Given the description of an element on the screen output the (x, y) to click on. 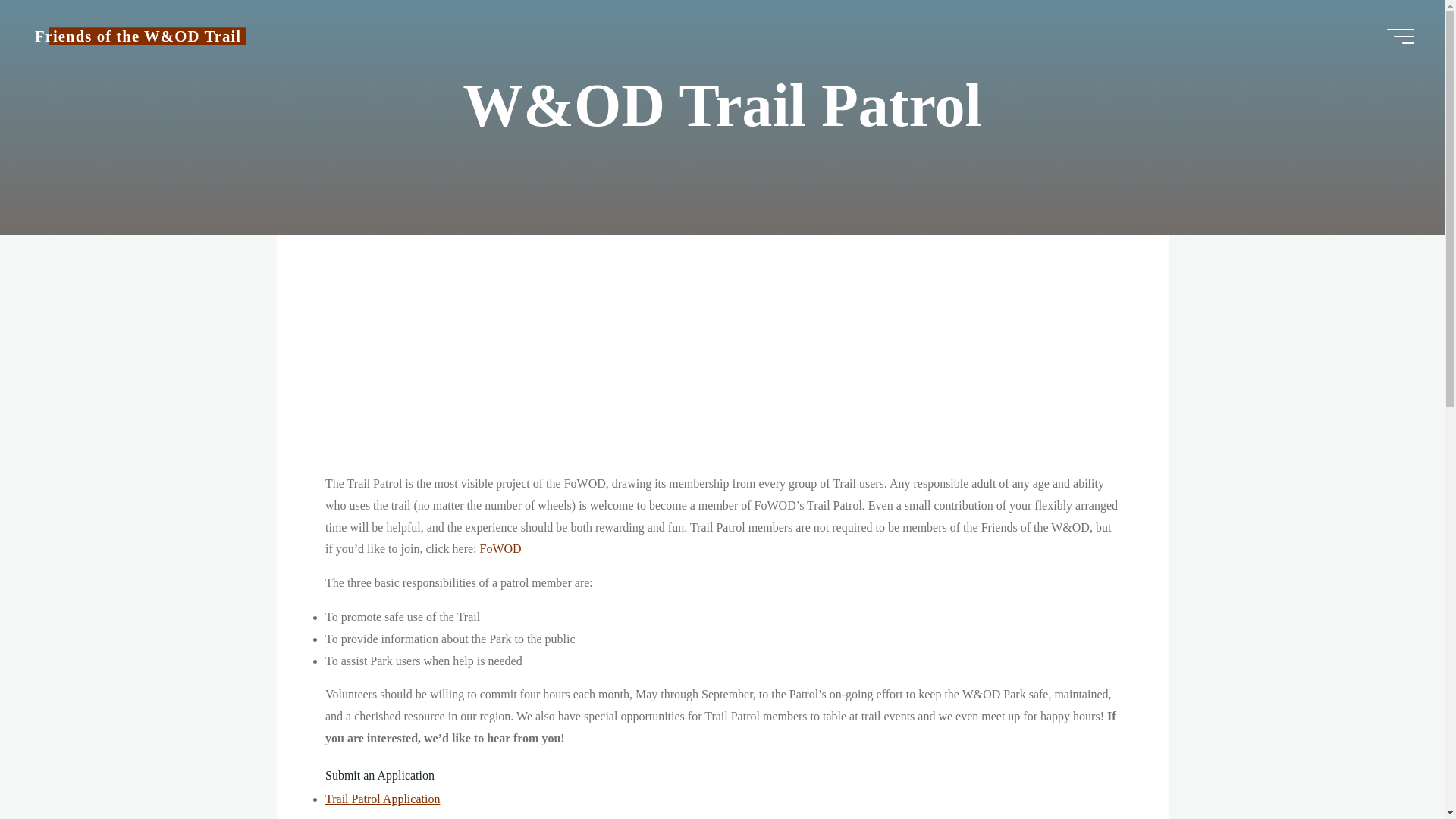
FoWOD (500, 548)
Trail Patrol Application (381, 798)
Trail Patrol Application (381, 798)
Read more (721, 140)
